Given the description of an element on the screen output the (x, y) to click on. 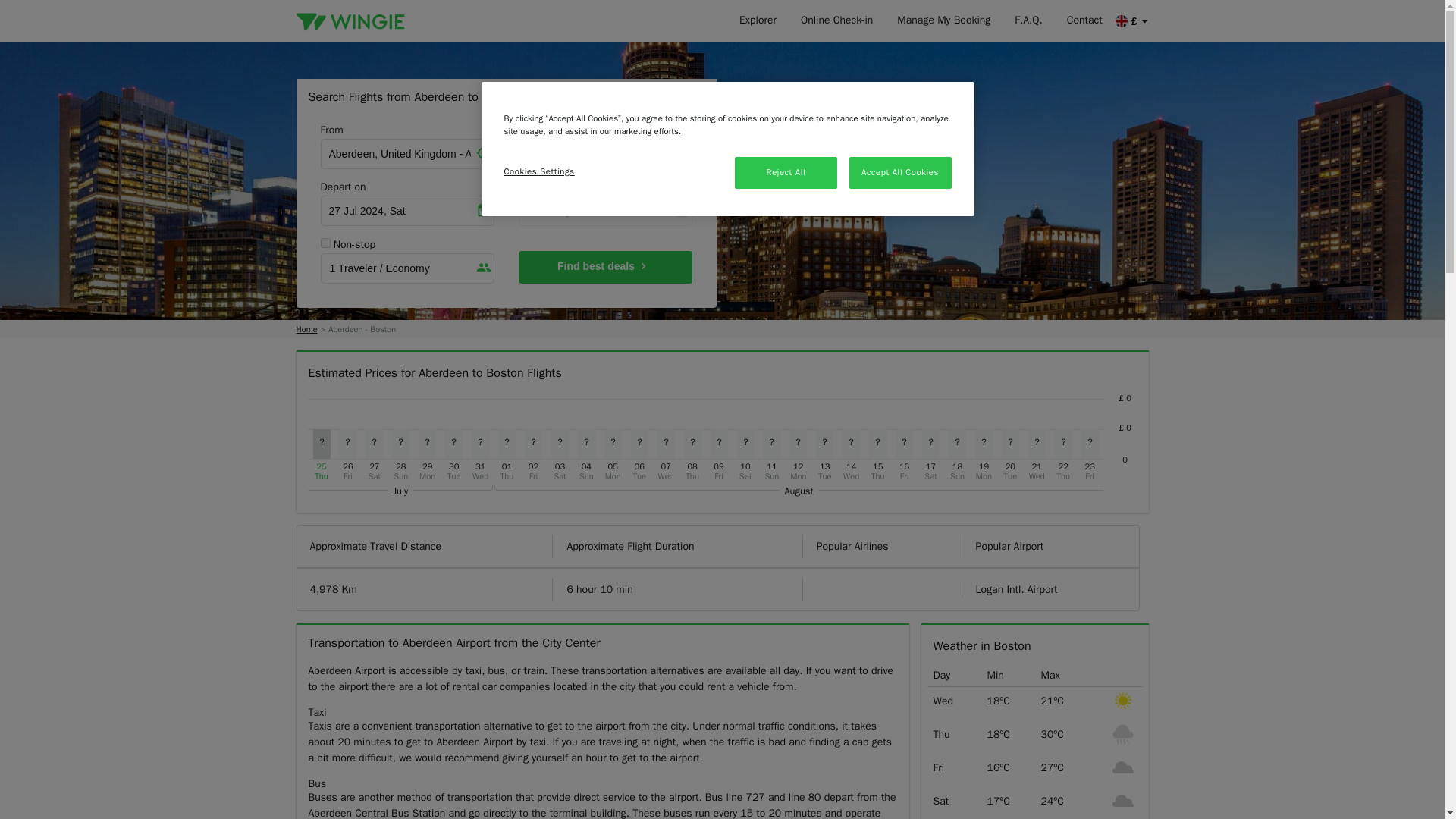
Find best deals (605, 266)
27 Jul 2024, Sat (406, 210)
false (325, 243)
One Way (605, 210)
Home (306, 328)
Boston, United States Of America - All Airports (605, 153)
Manage My Booking (944, 21)
Explorer (757, 21)
Home (306, 328)
Online Check-in (837, 21)
Contact (1084, 21)
F.A.Q. (1028, 21)
Aberdeen, United Kingdom - All Airports (406, 153)
on (644, 185)
